Given the description of an element on the screen output the (x, y) to click on. 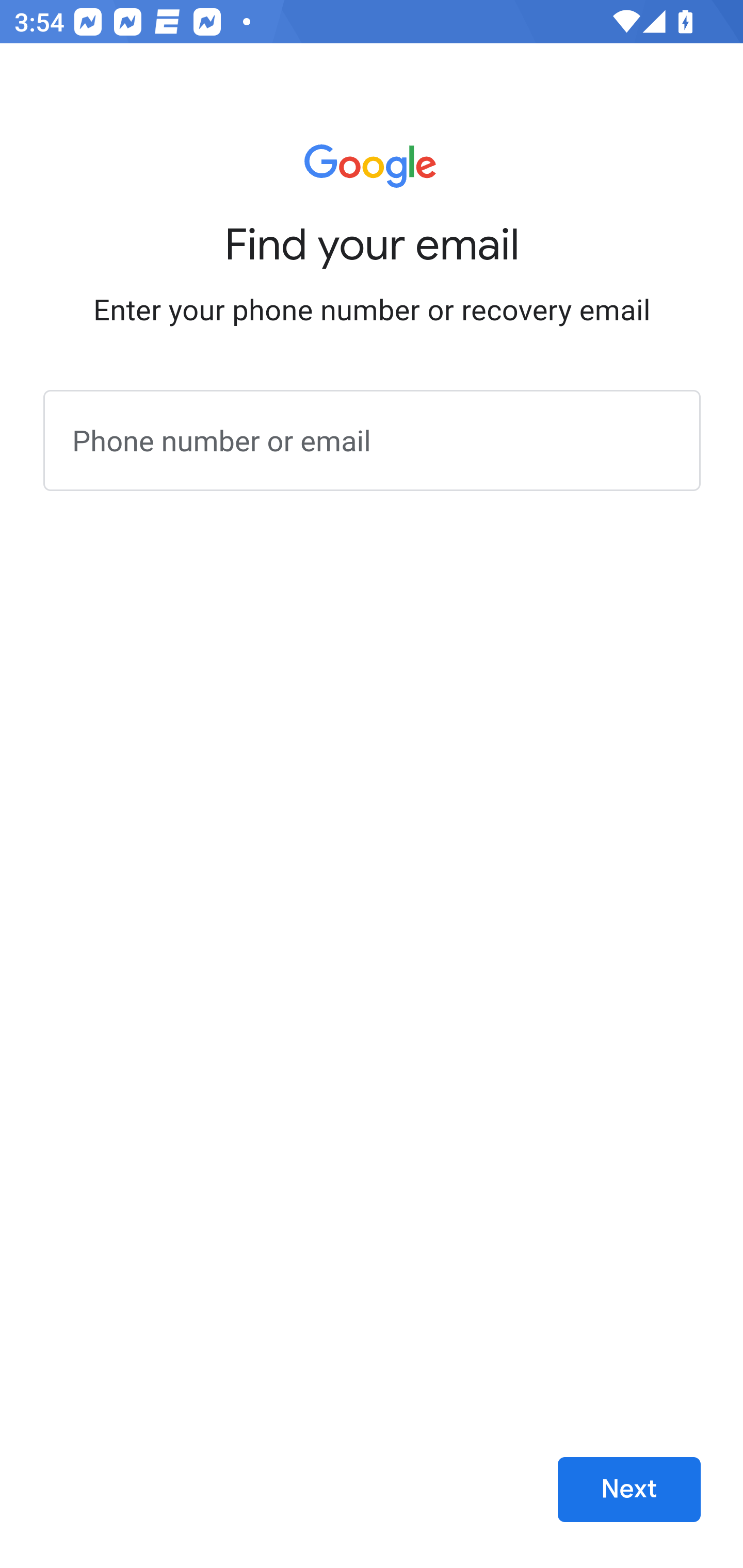
Next (629, 1490)
